Given the description of an element on the screen output the (x, y) to click on. 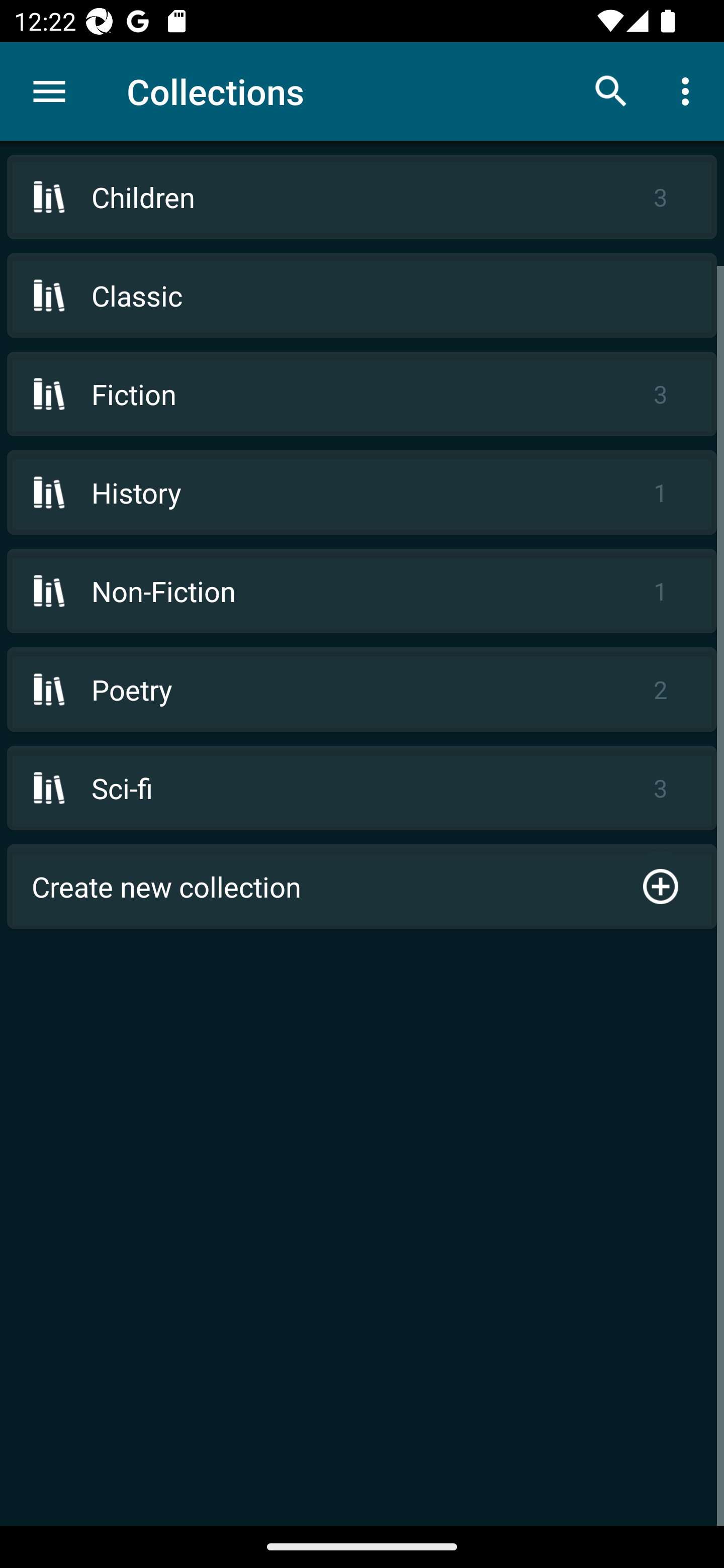
Menu (49, 91)
Search books & documents (611, 90)
More options (688, 90)
Children 3 (361, 197)
Classic (361, 295)
Fiction 3 (361, 393)
History 1 (361, 492)
Non-Fiction 1 (361, 590)
Poetry 2 (361, 689)
Sci-fi 3 (361, 787)
Create new collection (361, 885)
